Given the description of an element on the screen output the (x, y) to click on. 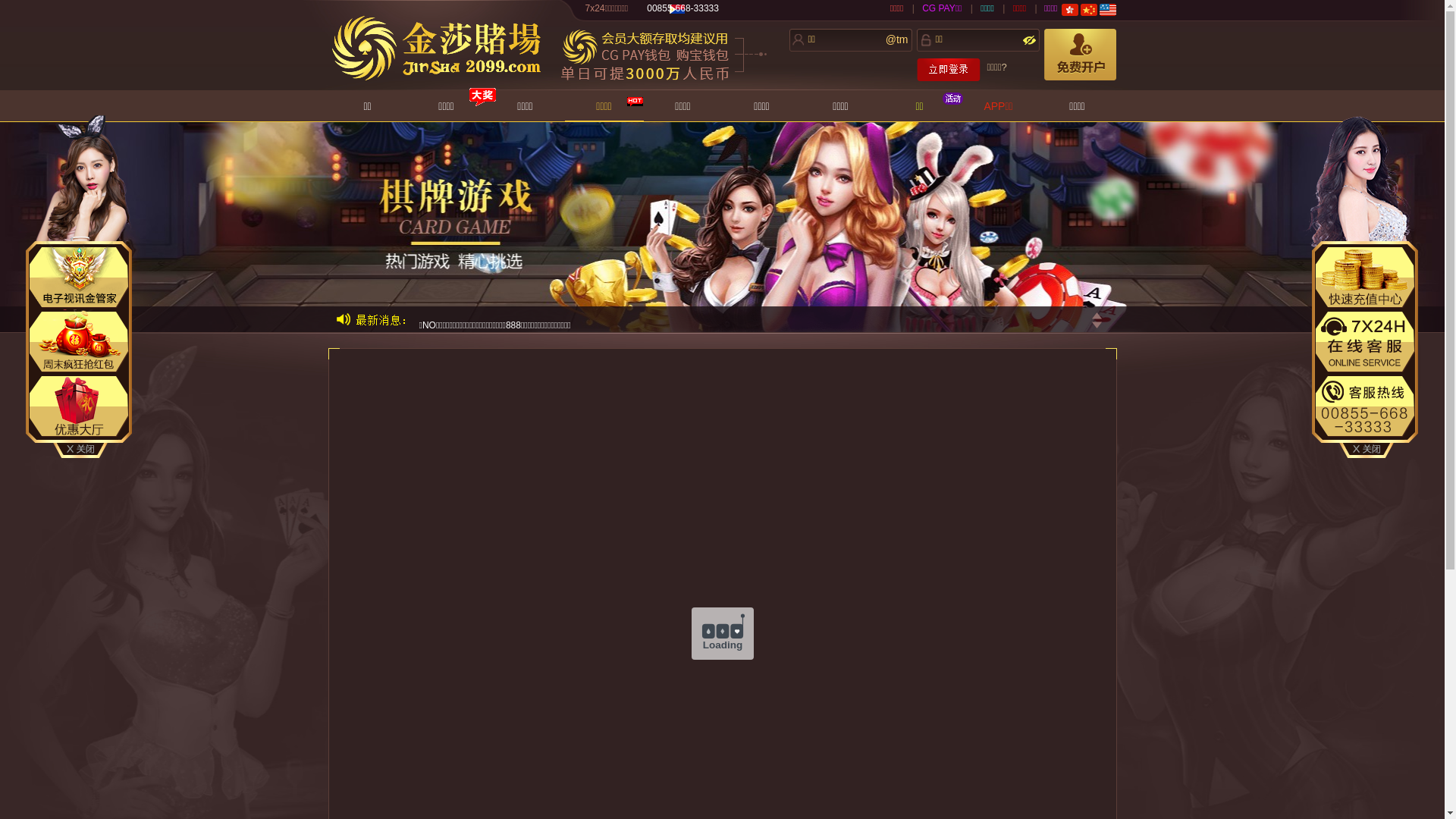
English Element type: hover (1107, 9)
